Given the description of an element on the screen output the (x, y) to click on. 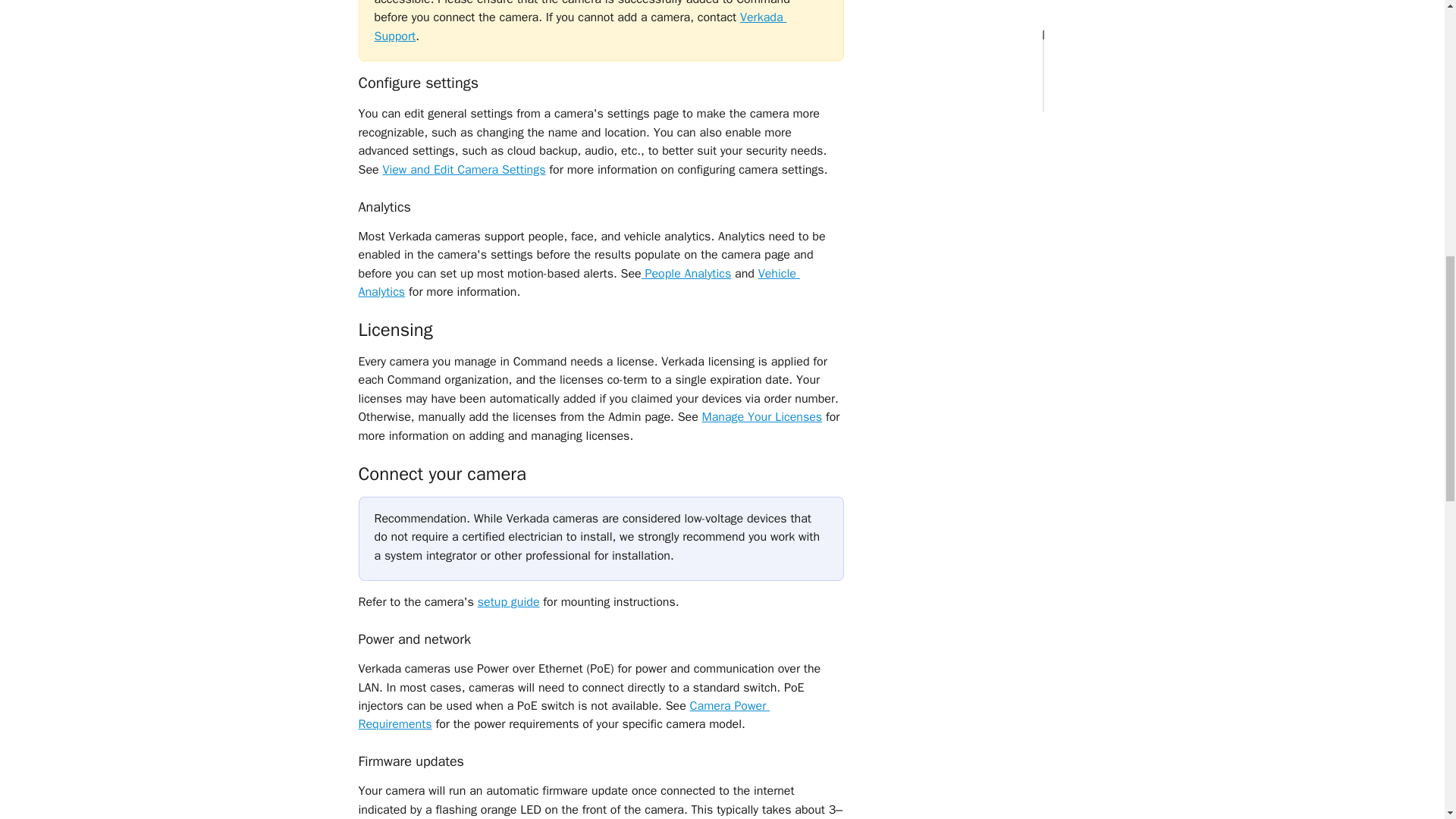
setup guide (508, 601)
People Analytics (687, 272)
Manage Your Licenses (761, 417)
View and Edit Camera Settings (462, 169)
Vehicle Analytics (578, 281)
Verkada Support (580, 26)
Camera Power Requirements (564, 715)
